Given the description of an element on the screen output the (x, y) to click on. 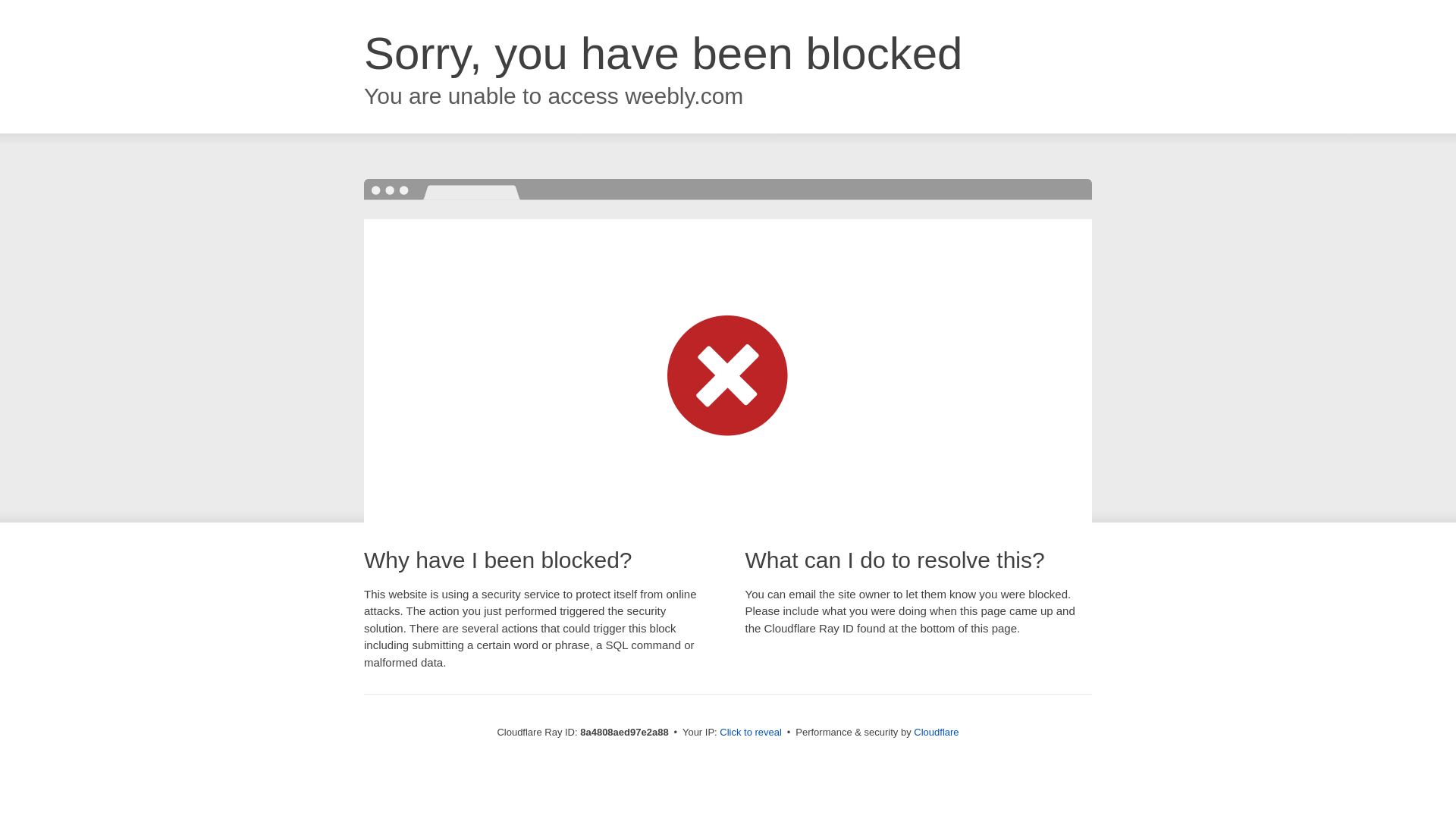
Click to reveal (750, 732)
Cloudflare (936, 731)
